Given the description of an element on the screen output the (x, y) to click on. 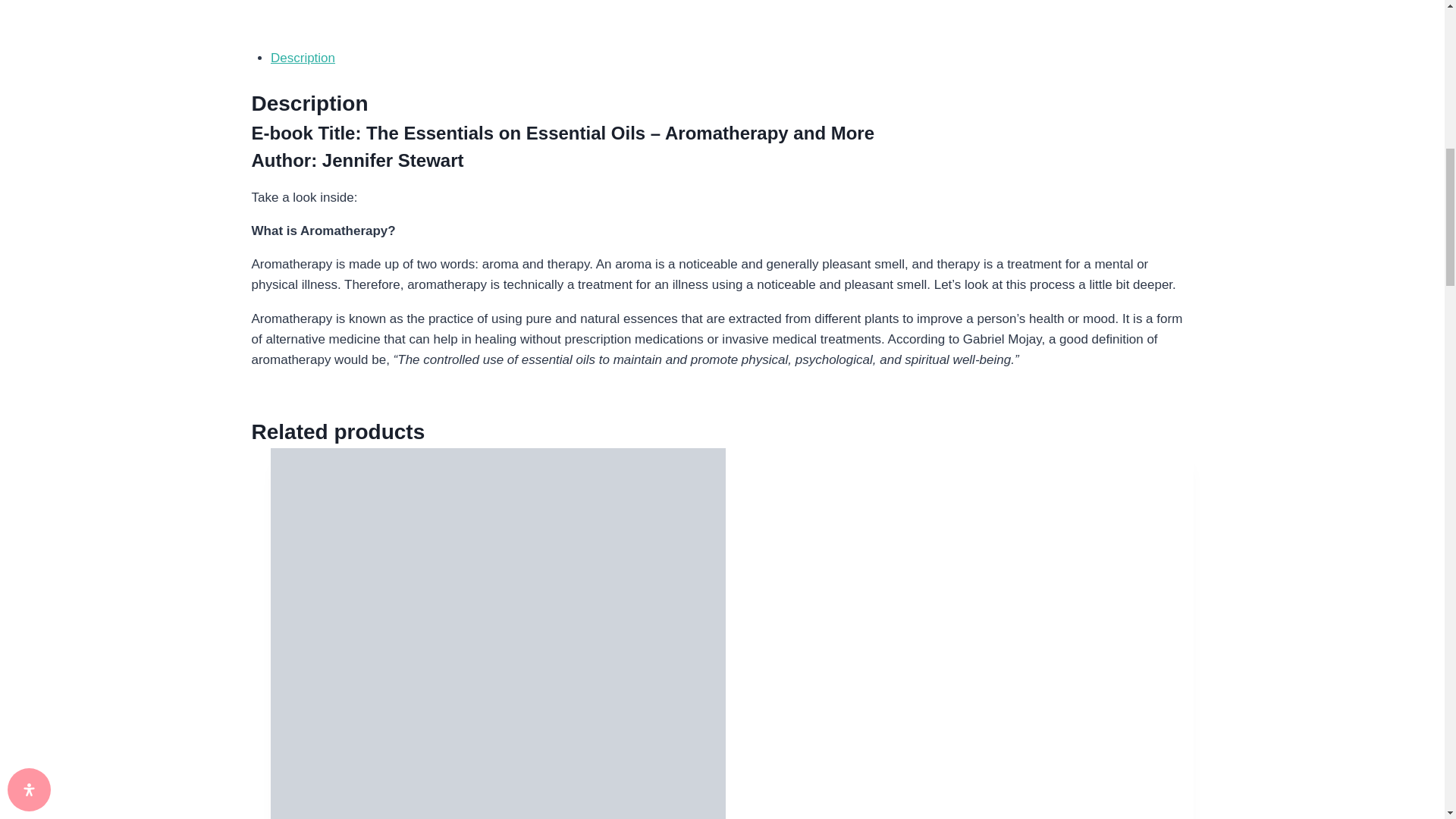
eBook Cover (477, 11)
